Given the description of an element on the screen output the (x, y) to click on. 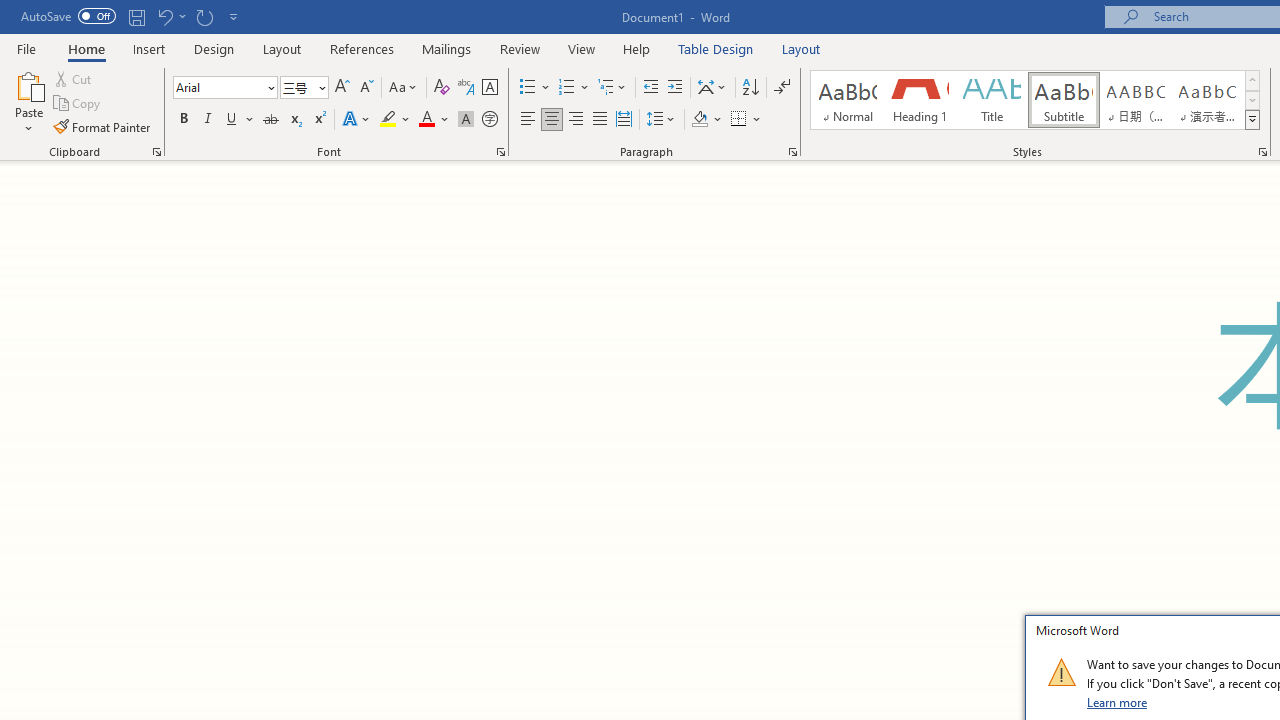
Shading RGB(0, 0, 0) (699, 119)
Underline (239, 119)
Repeat Paste (204, 15)
Font (218, 87)
Numbering (566, 87)
More Options (757, 119)
Multilevel List (613, 87)
Help (637, 48)
Copy (78, 103)
Superscript (319, 119)
Numbering (573, 87)
Insert (149, 48)
Distributed (623, 119)
Quick Access Toolbar (131, 16)
Row up (1252, 79)
